Given the description of an element on the screen output the (x, y) to click on. 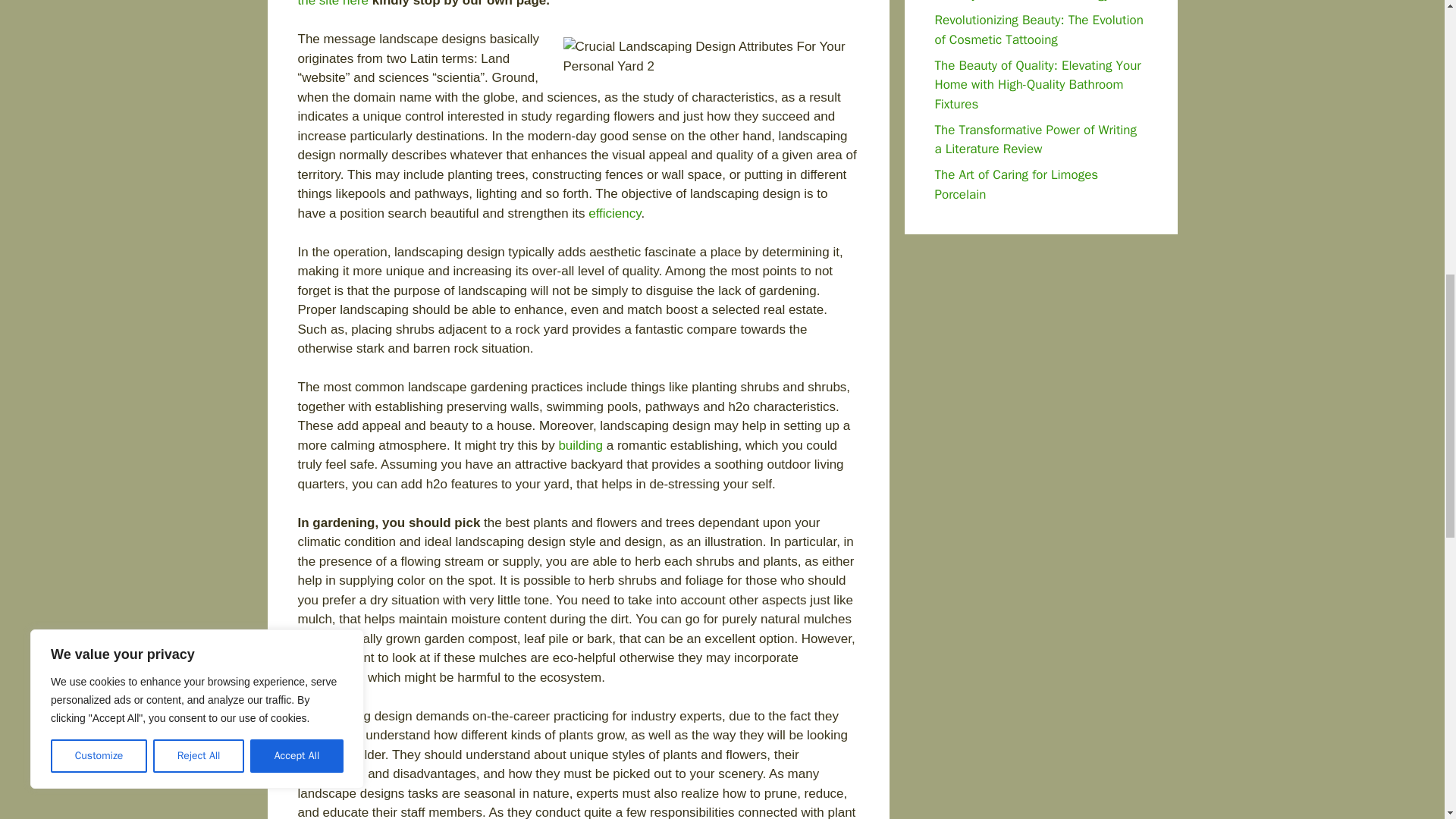
building (579, 445)
efficiency (614, 213)
take a look at the site here (577, 4)
